Given the description of an element on the screen output the (x, y) to click on. 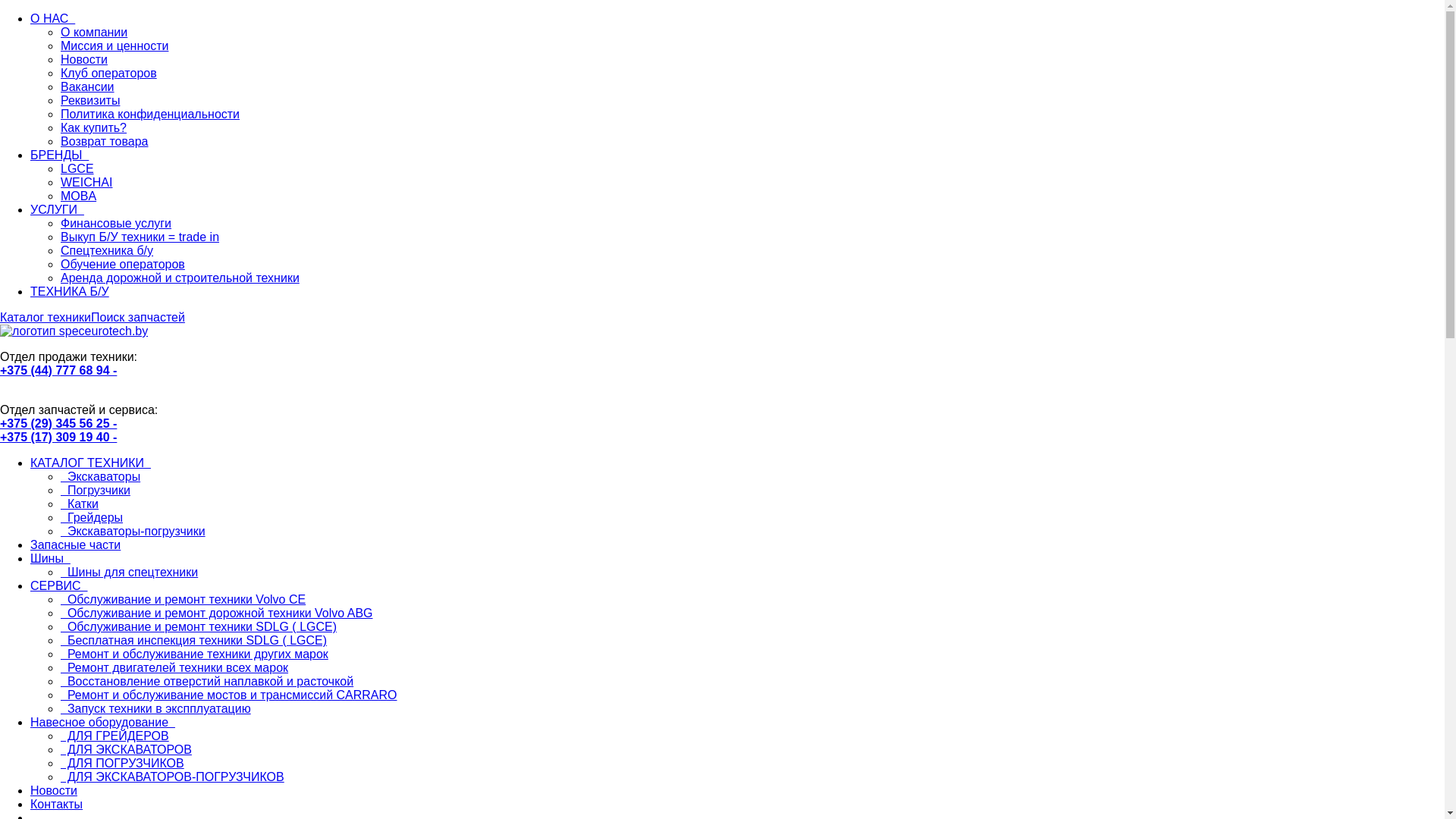
WEICHAI Element type: text (86, 181)
+375 (29) 345 56 25 - Element type: text (58, 423)
MOBA Element type: text (78, 195)
+375 (17) 309 19 40 - Element type: text (58, 436)
+375 (44) 777 68 94 - Element type: text (58, 370)
LGCE Element type: text (77, 168)
